Given the description of an element on the screen output the (x, y) to click on. 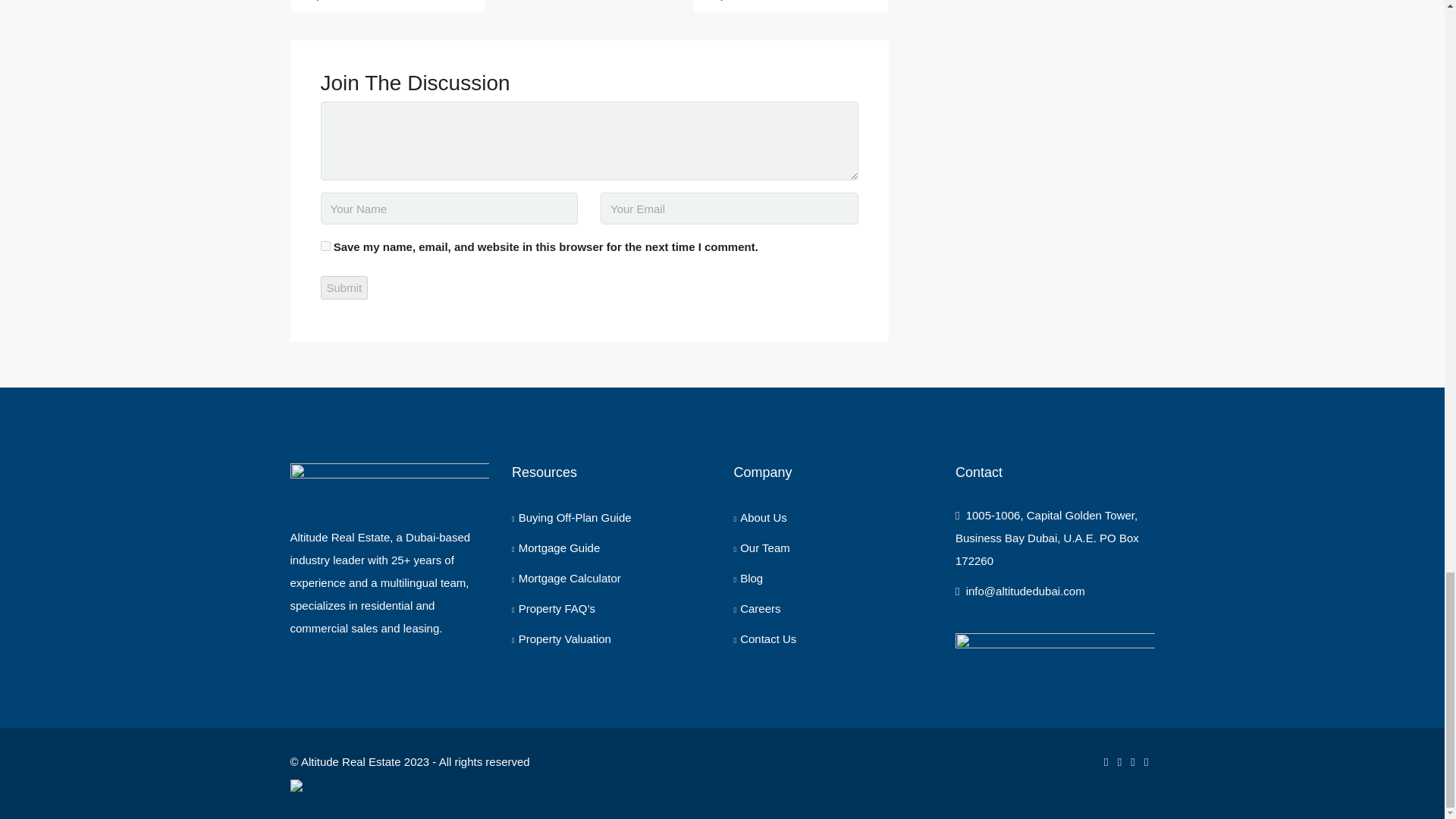
Submit (344, 287)
yes (325, 245)
